Given the description of an element on the screen output the (x, y) to click on. 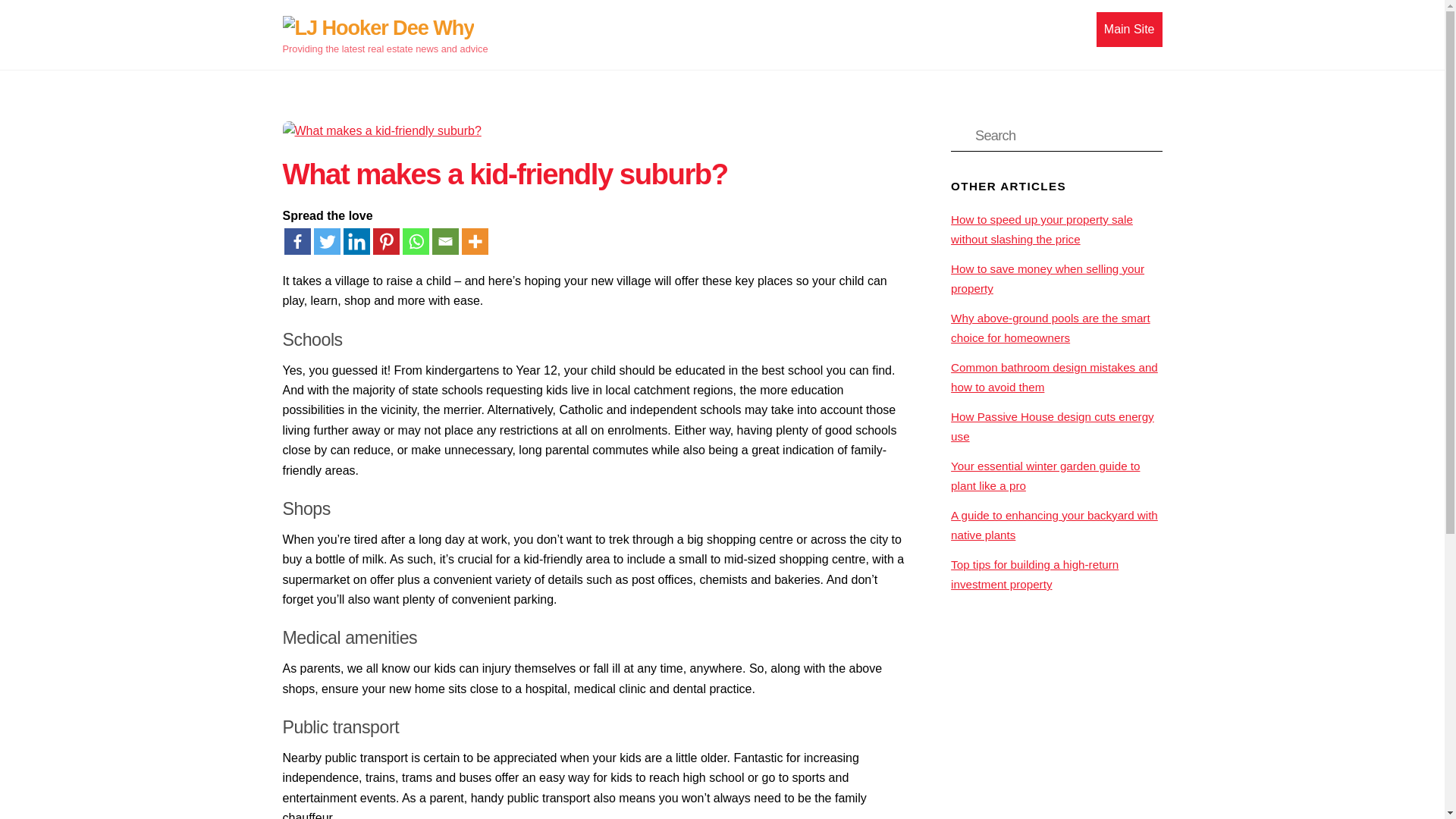
Email (445, 241)
Top tips for building a high-return investment property (1034, 573)
Facebook (296, 241)
LJ Hooker Dee Why (378, 27)
LJ Hooker Dee Why (378, 27)
Whatsapp (414, 241)
More (474, 241)
Linkedin (355, 241)
Common bathroom design mistakes and how to avoid them (1053, 377)
Your essential winter garden guide to plant like a pro (1045, 475)
Twitter (327, 241)
What makes a kid-friendly suburb? (504, 174)
Main Site (721, 29)
Why above-ground pools are the smart choice for homeowners (1050, 327)
How Passive House design cuts energy use (1052, 426)
